Given the description of an element on the screen output the (x, y) to click on. 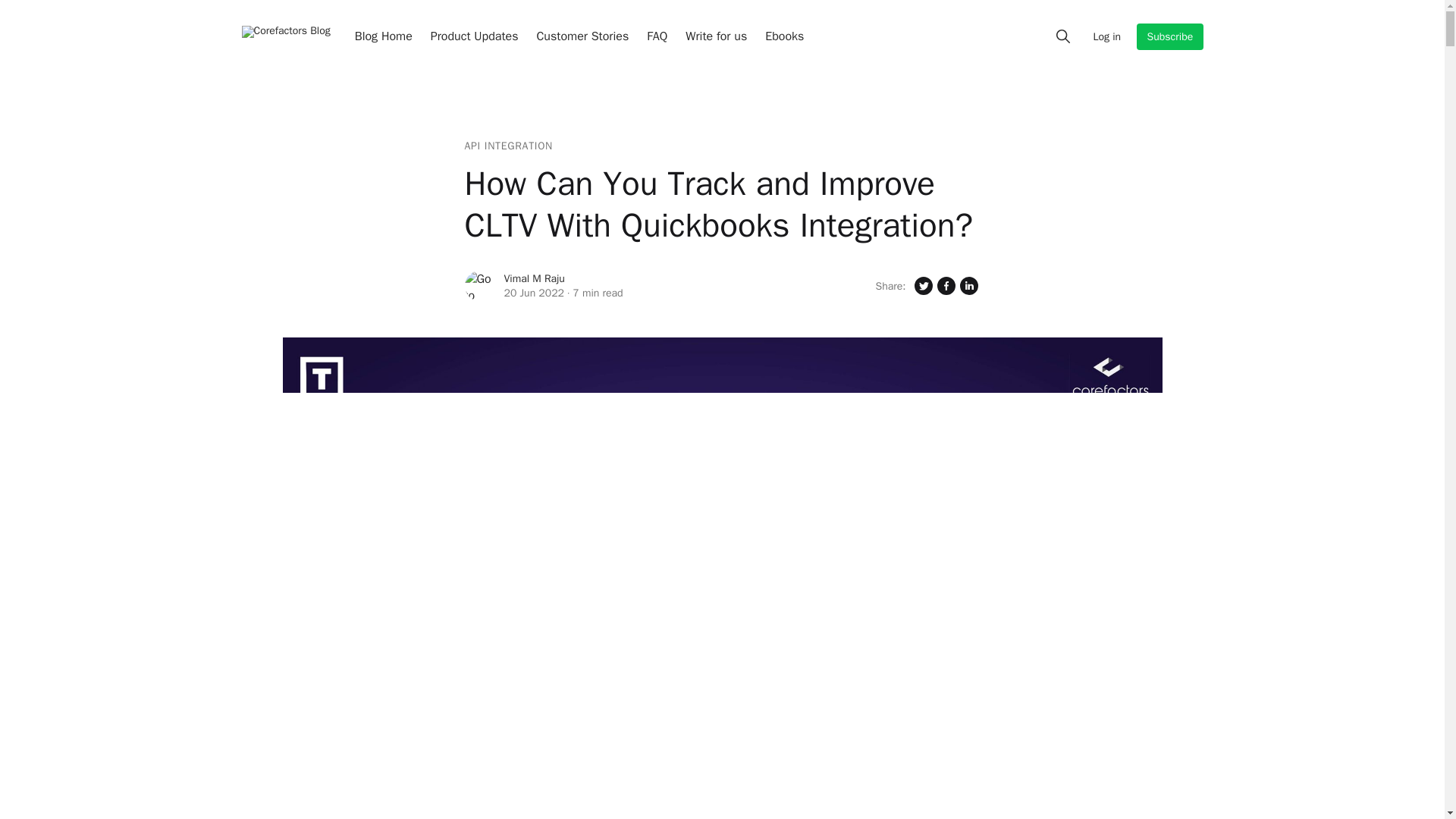
Product Updates (474, 36)
Go to the profile of Vimal M Raju (479, 286)
API INTEGRATION (508, 145)
Customer Stories (582, 36)
Vimal M Raju (533, 278)
Subscribe (1169, 35)
Ebooks (783, 36)
Share on Linkedin (967, 285)
Log in (1107, 35)
Write for us (716, 36)
7 min read (597, 292)
Share on Twitter (922, 285)
Blog Home (384, 36)
Share on Facebook (945, 285)
Updated 14 Sep 2023 (533, 292)
